Given the description of an element on the screen output the (x, y) to click on. 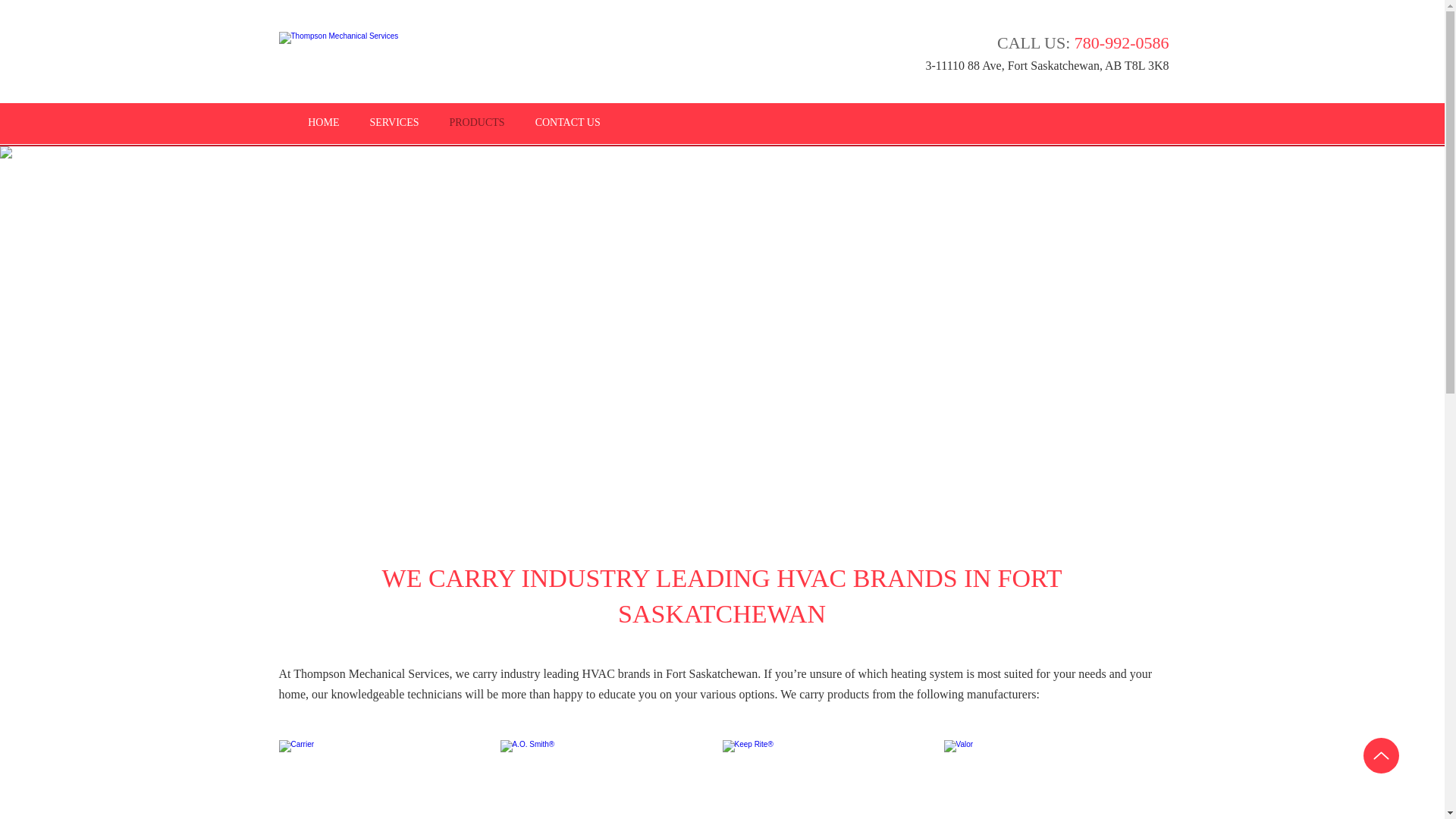
HOME (322, 123)
SERVICES (393, 123)
PRODUCTS (476, 123)
780-992-0586 (1121, 42)
CONTACT US (567, 123)
